Given the description of an element on the screen output the (x, y) to click on. 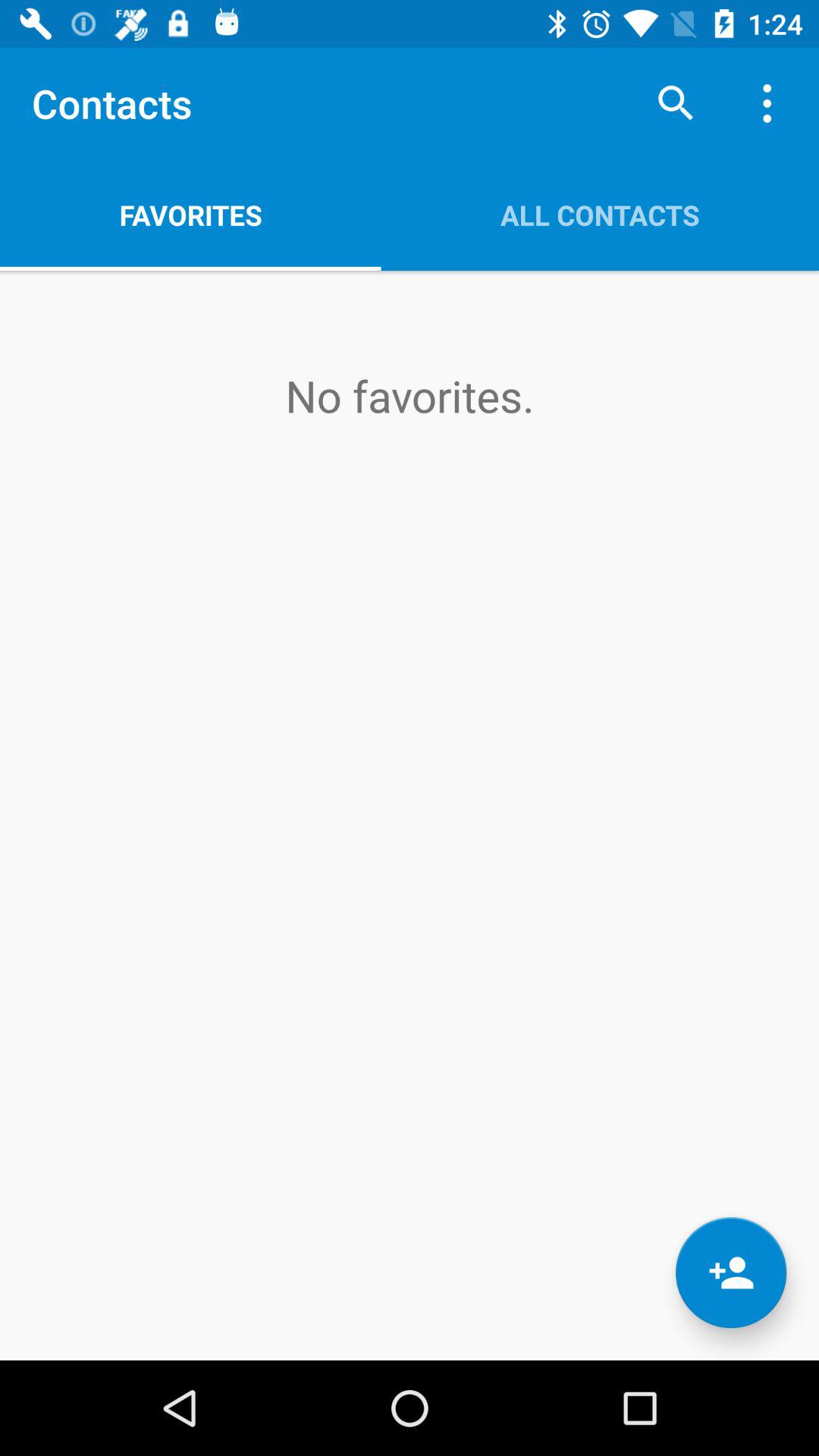
tap icon next to the favorites app (600, 214)
